Given the description of an element on the screen output the (x, y) to click on. 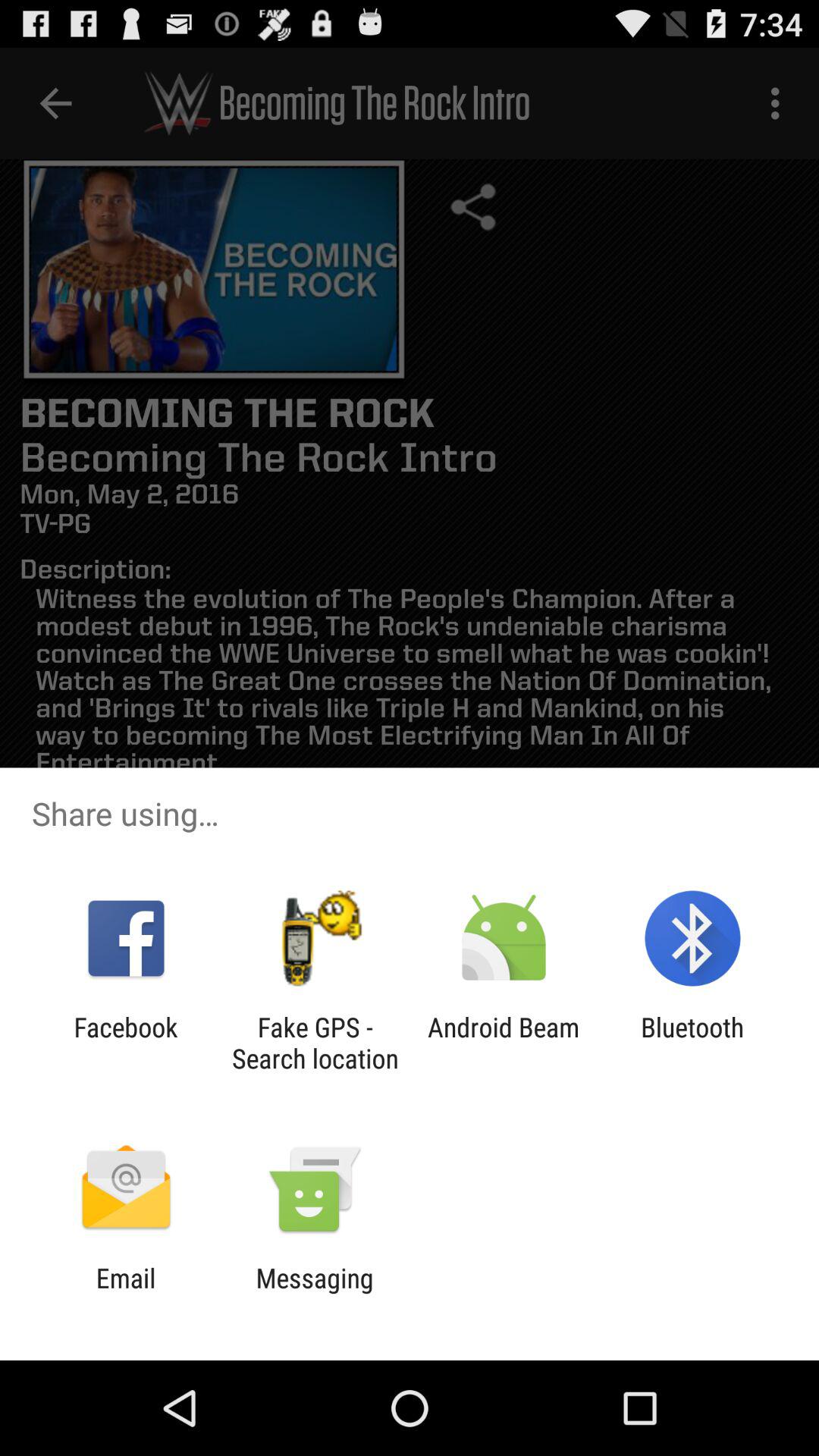
choose the bluetooth item (691, 1042)
